Given the description of an element on the screen output the (x, y) to click on. 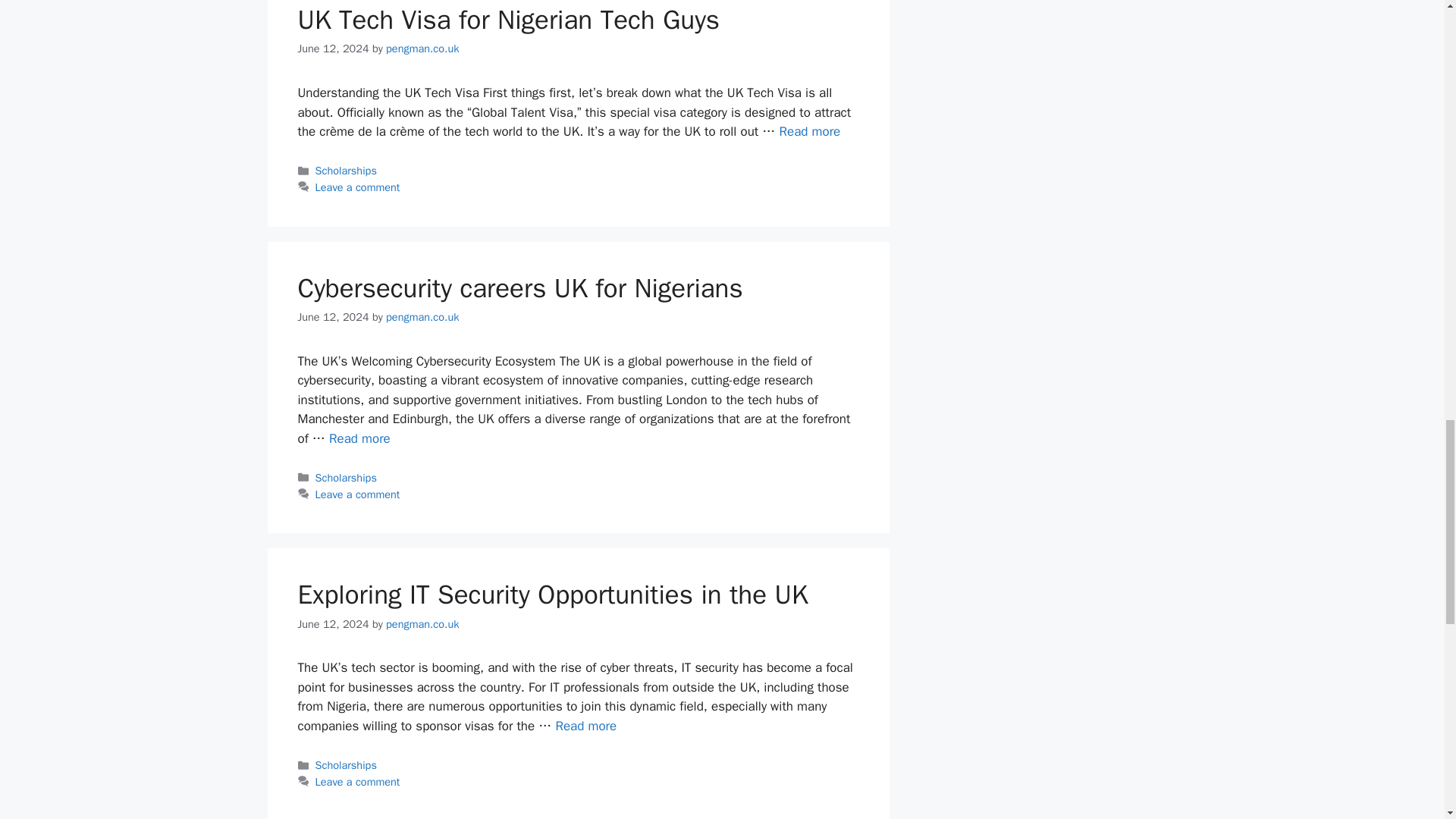
View all posts by pengman.co.uk (421, 48)
View all posts by pengman.co.uk (421, 316)
View all posts by pengman.co.uk (421, 623)
Exploring IT Security Opportunities in the UK (584, 725)
Read more (809, 131)
pengman.co.uk (421, 48)
UK Tech Visa for Nigerian Tech Guys (508, 19)
UK Tech Visa for Nigerian Tech Guys (809, 131)
Cybersecurity careers UK for Nigerians (359, 438)
Scholarships (346, 170)
